Given the description of an element on the screen output the (x, y) to click on. 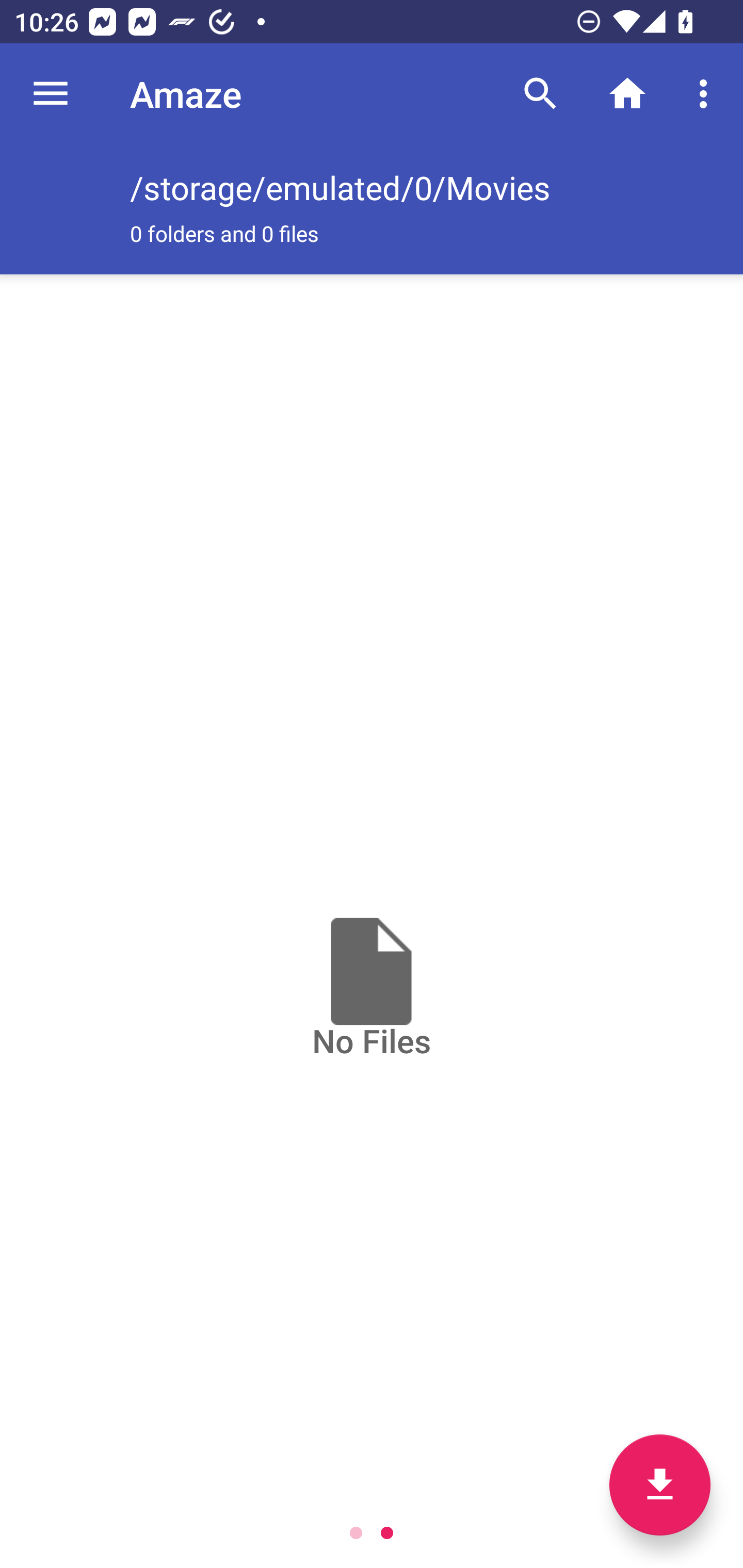
Navigate up (50, 93)
Search (540, 93)
Home (626, 93)
More options (706, 93)
